Given the description of an element on the screen output the (x, y) to click on. 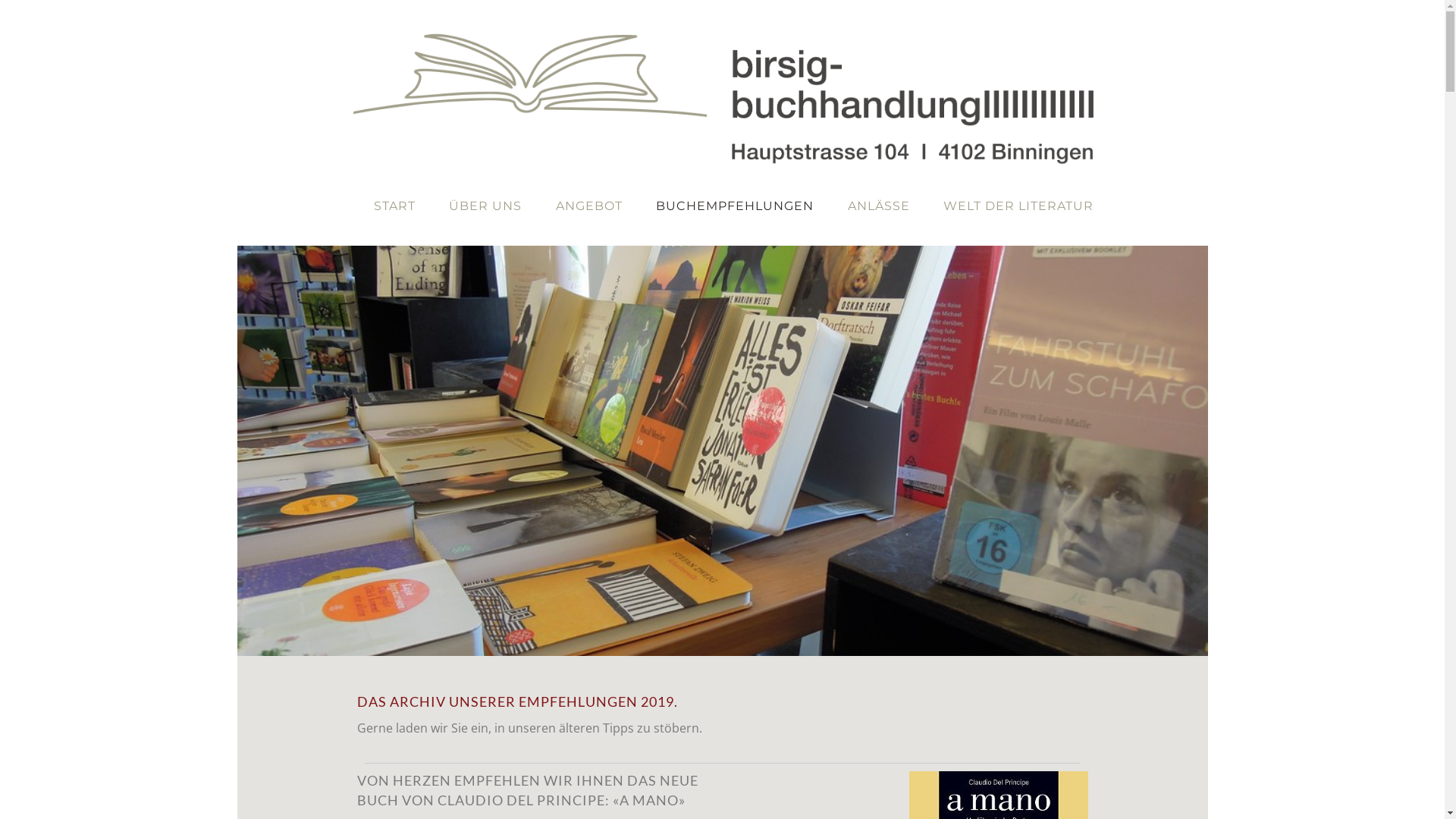
START Element type: text (394, 205)
ANGEBOT Element type: text (588, 205)
WELT DER LITERATUR Element type: text (1018, 205)
BUCHEMPFEHLUNGEN Element type: text (734, 205)
